Given the description of an element on the screen output the (x, y) to click on. 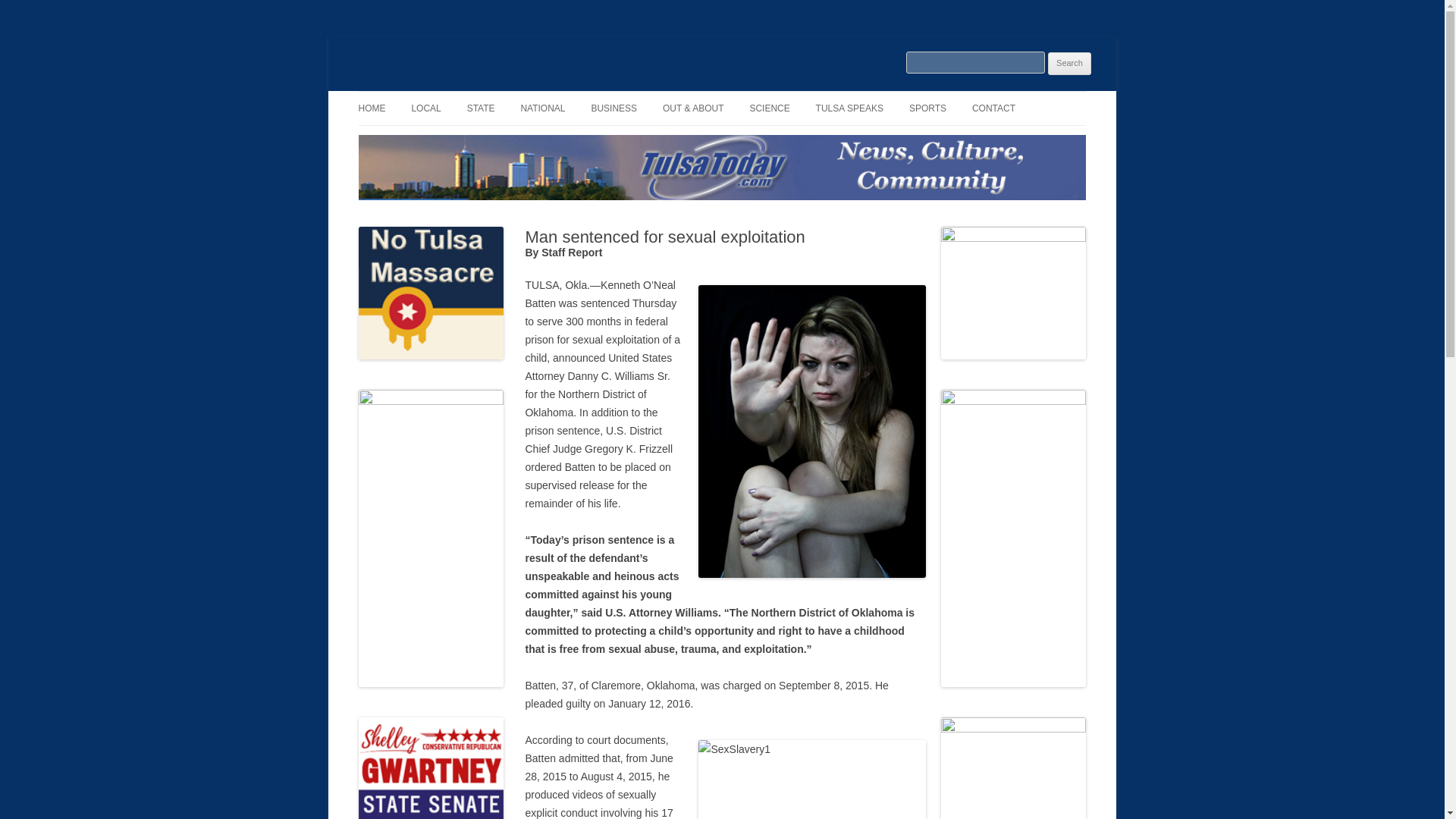
BUSINESS (614, 108)
SPORTS (927, 108)
CONTACT (993, 108)
Search (1069, 63)
Search (1069, 63)
SCIENCE (769, 108)
Skip to content (757, 95)
TULSA SPEAKS (849, 108)
NATIONAL (541, 108)
Skip to content (757, 95)
